Given the description of an element on the screen output the (x, y) to click on. 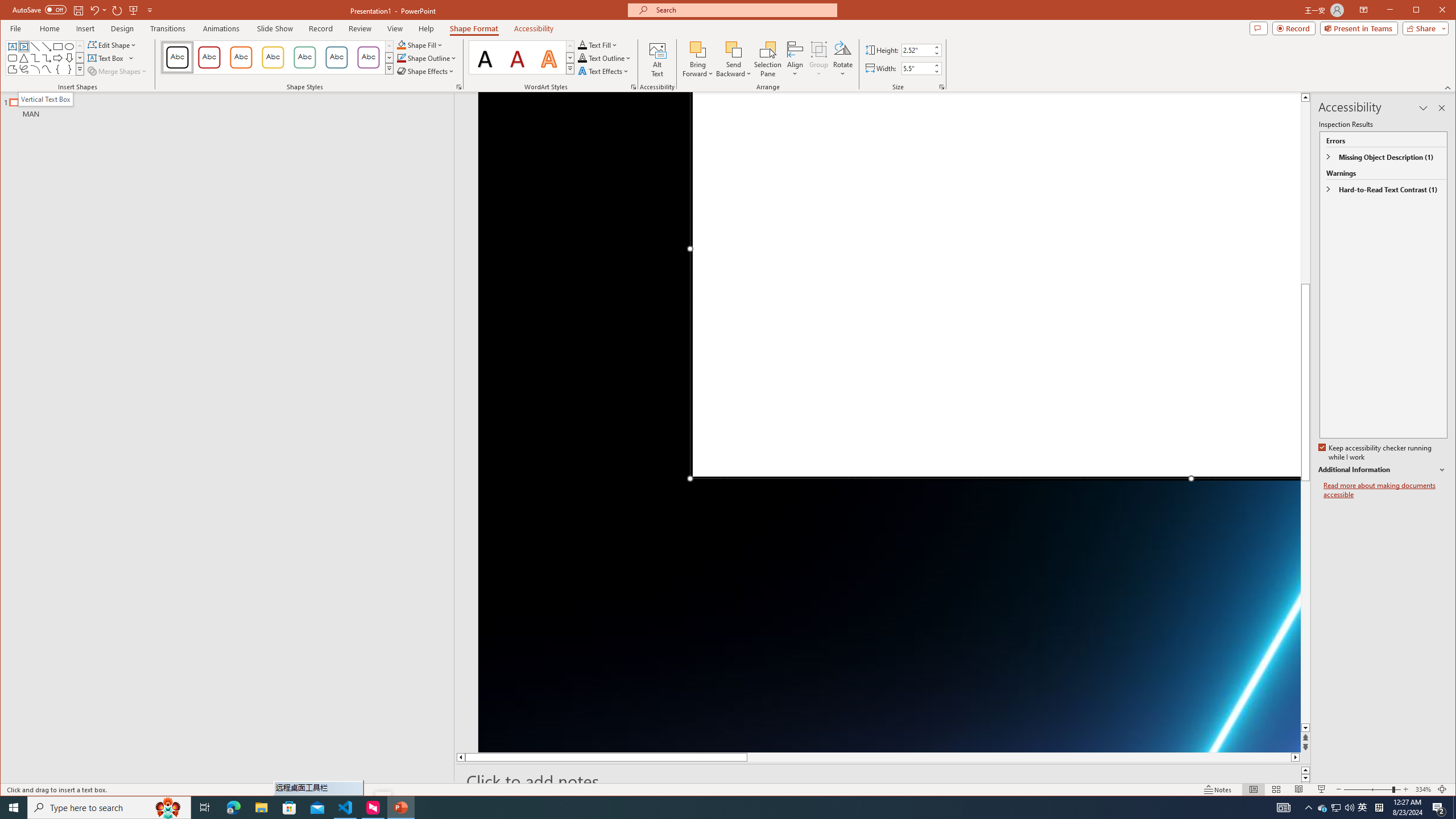
Colored Outline - Green, Accent 4 (304, 57)
Colored Outline - Black, Dark 1 (177, 57)
Merge Shapes (118, 70)
Colored Outline - Purple, Accent 6 (368, 57)
